Given the description of an element on the screen output the (x, y) to click on. 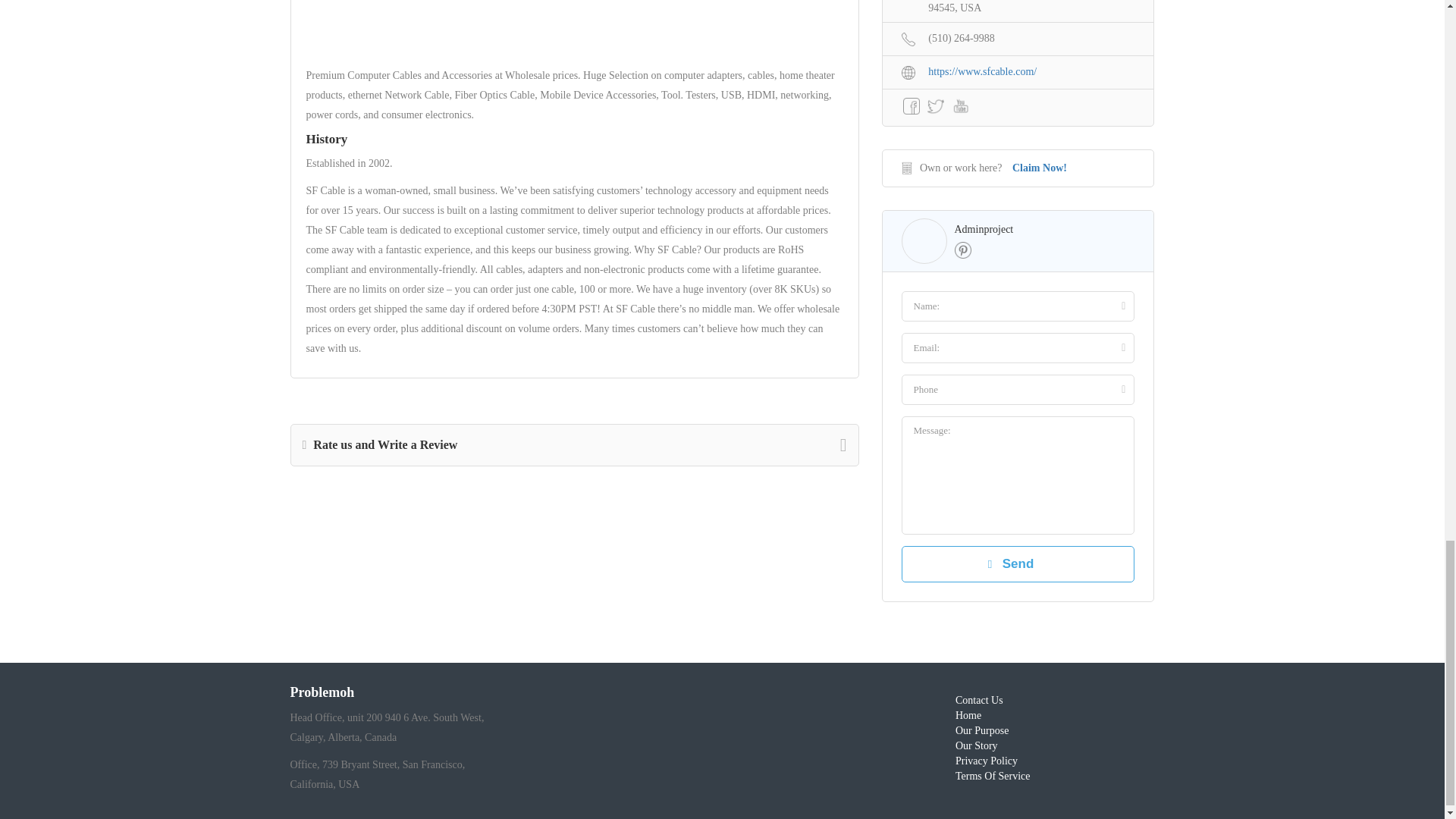
28300 Industrial Blvd, Hayward, CA 94545, USA (1018, 8)
Send (1017, 564)
